Given the description of an element on the screen output the (x, y) to click on. 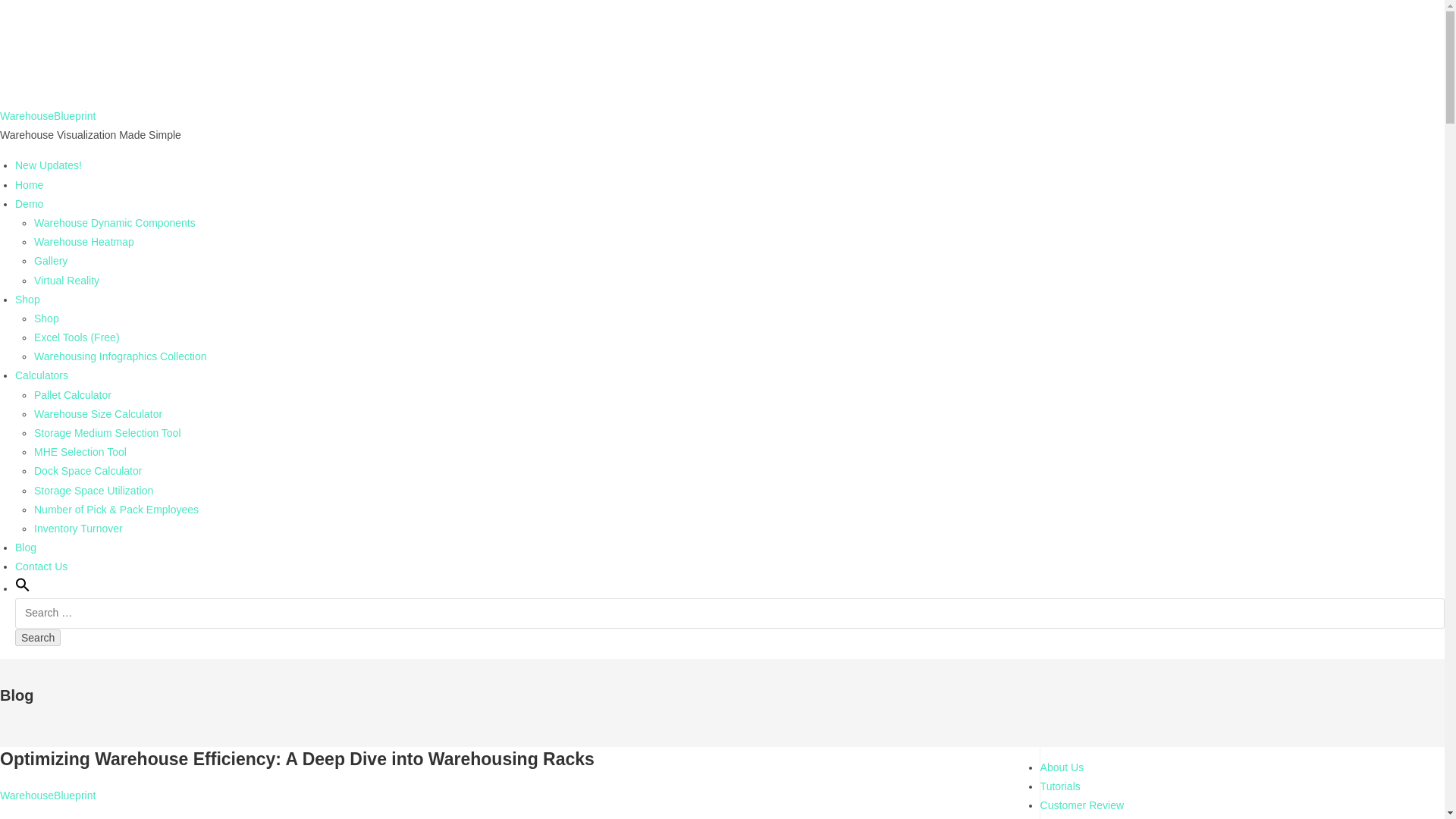
Gallery (49, 260)
Shop (46, 318)
Search (37, 637)
Inventory Turnover (77, 528)
Warehouse Size Calculator (97, 413)
Warehousing Infographics Collection (119, 356)
Shop (27, 299)
Search (37, 637)
New Updates! (47, 164)
Warehouse Heatmap (83, 241)
